Given the description of an element on the screen output the (x, y) to click on. 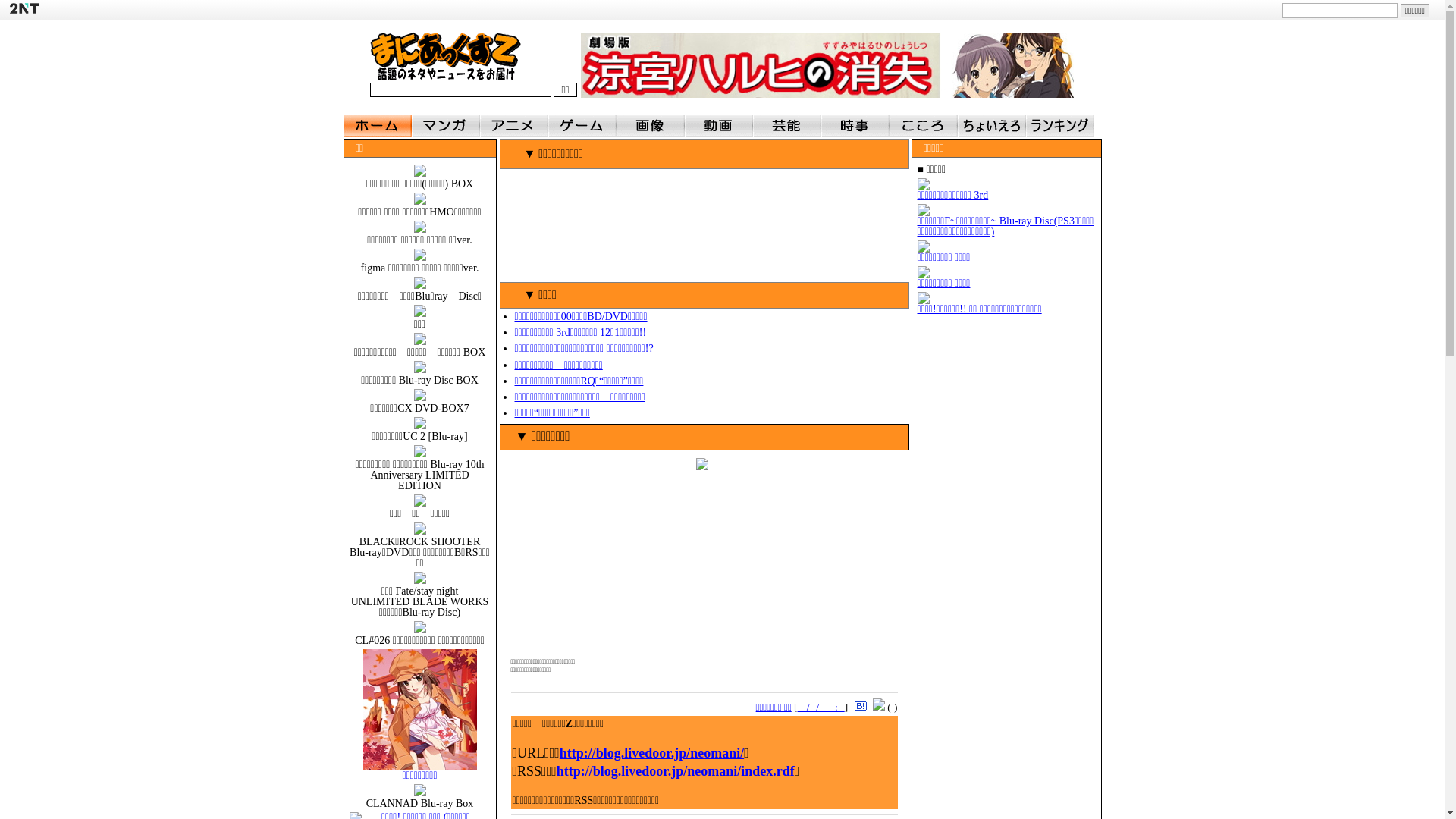
http://blog.livedoor.jp/neomani/ Element type: text (651, 752)
http://blog.livedoor.jp/neomani/index.rdf Element type: text (675, 770)
--/--/-- --:-- Element type: text (820, 706)
